Given the description of an element on the screen output the (x, y) to click on. 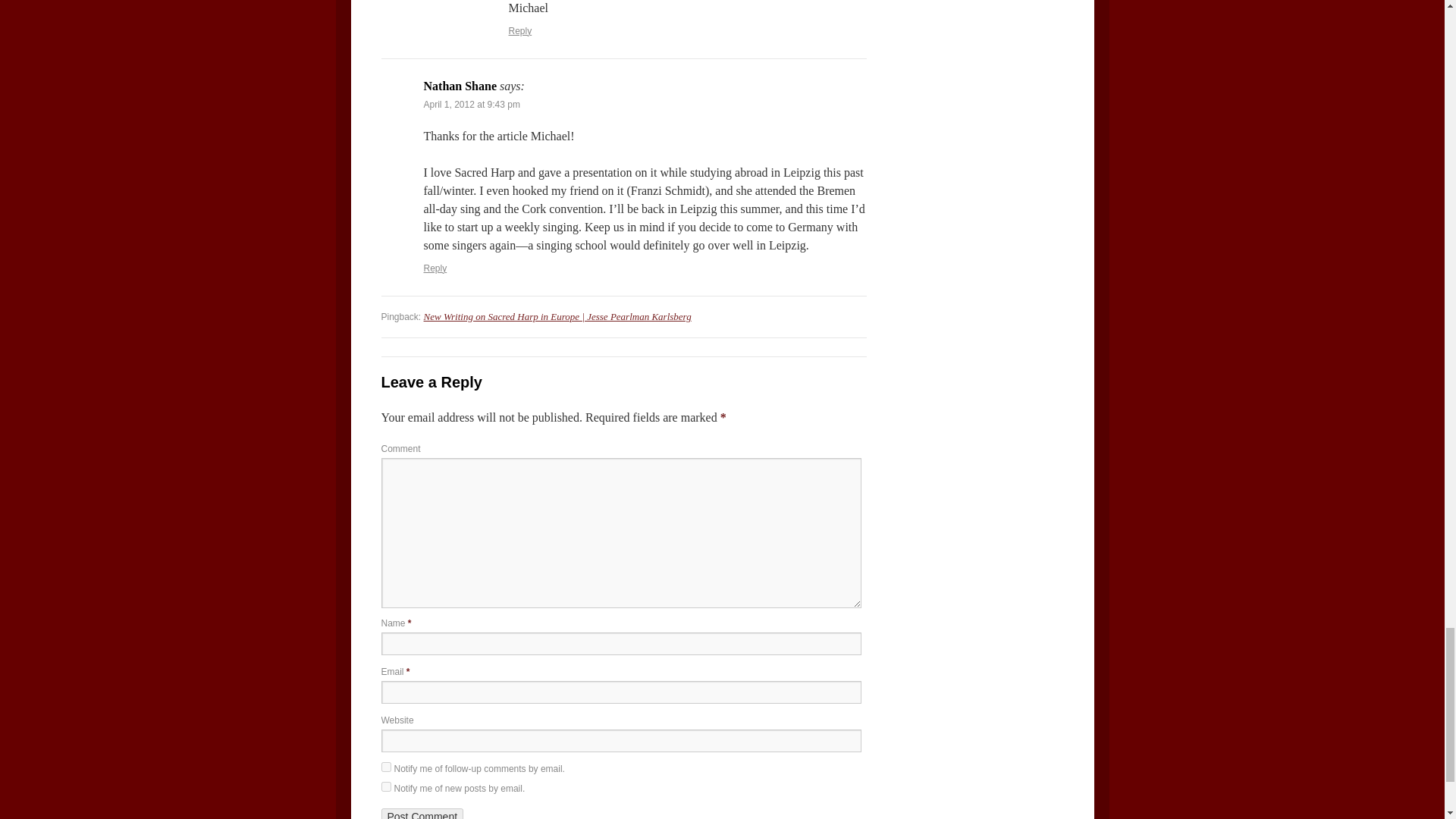
subscribe (385, 786)
subscribe (385, 767)
Post Comment (421, 813)
